Given the description of an element on the screen output the (x, y) to click on. 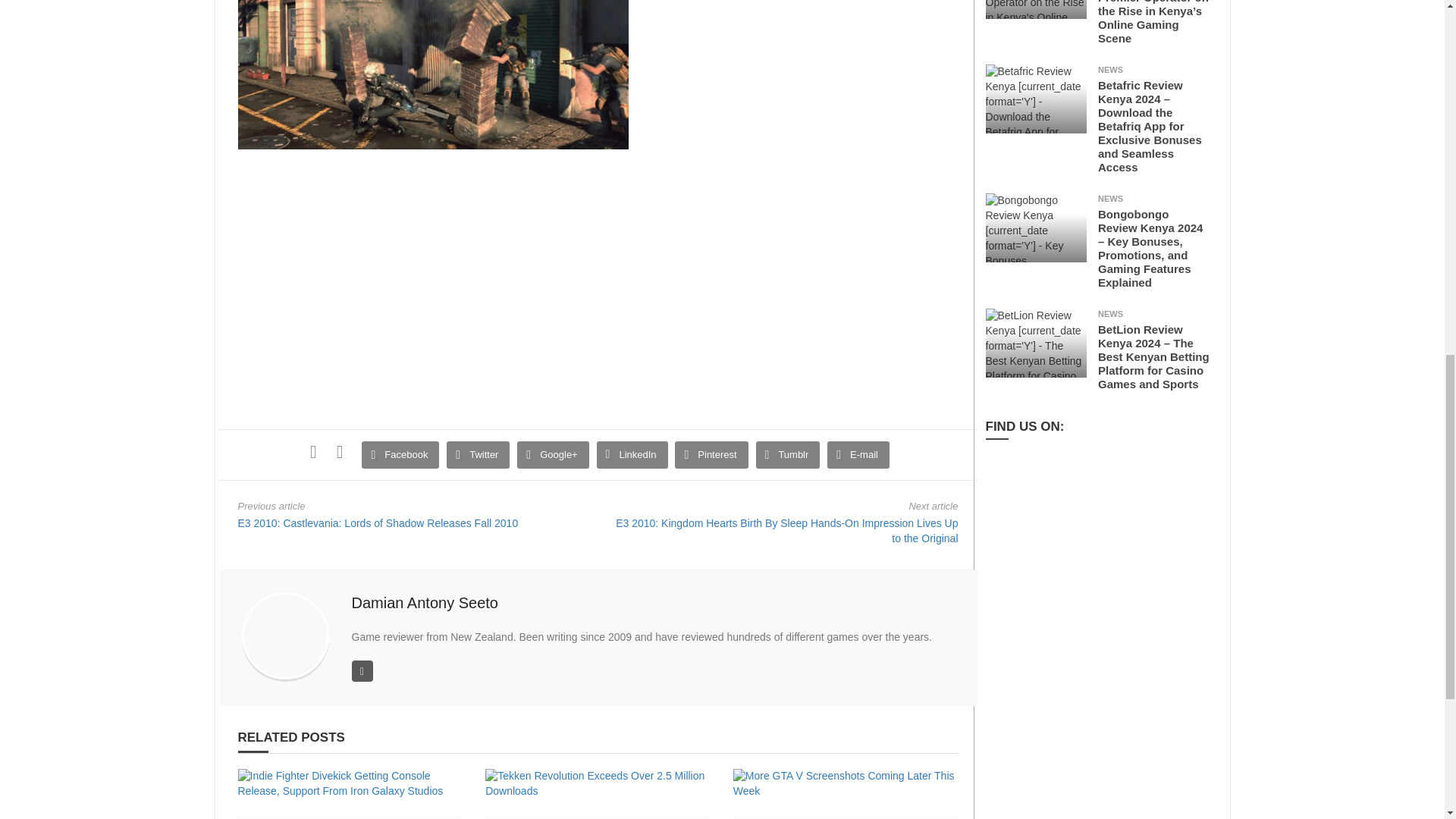
Posts by Damian Antony Seeto (424, 602)
E3 2010: Castlevania: Lords of Shadow Releases Fall 2010   (378, 522)
